Given the description of an element on the screen output the (x, y) to click on. 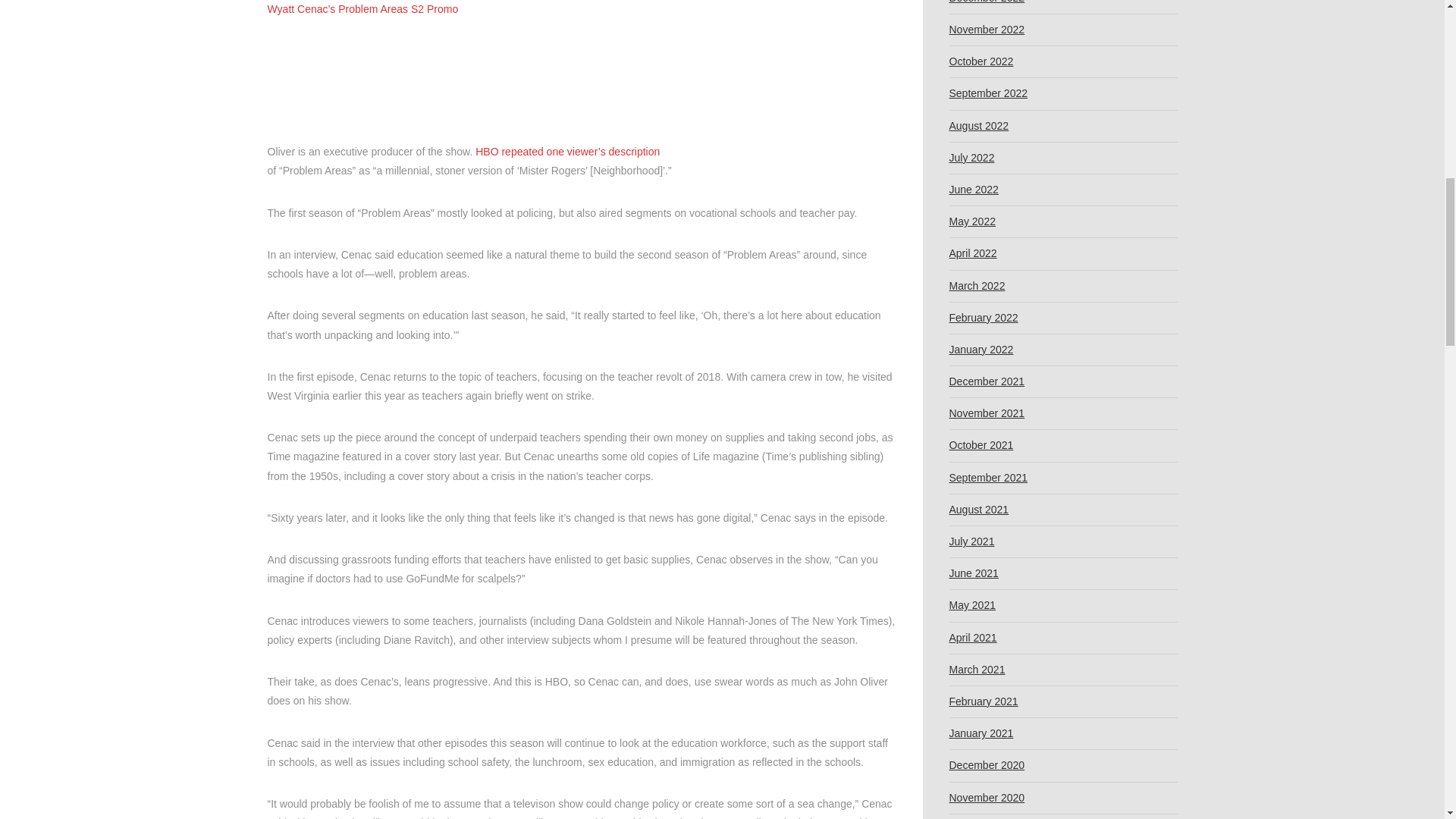
November 2022 (987, 29)
October 2022 (981, 60)
August 2022 (979, 125)
September 2022 (988, 92)
December 2022 (987, 6)
July 2022 (971, 157)
